Given the description of an element on the screen output the (x, y) to click on. 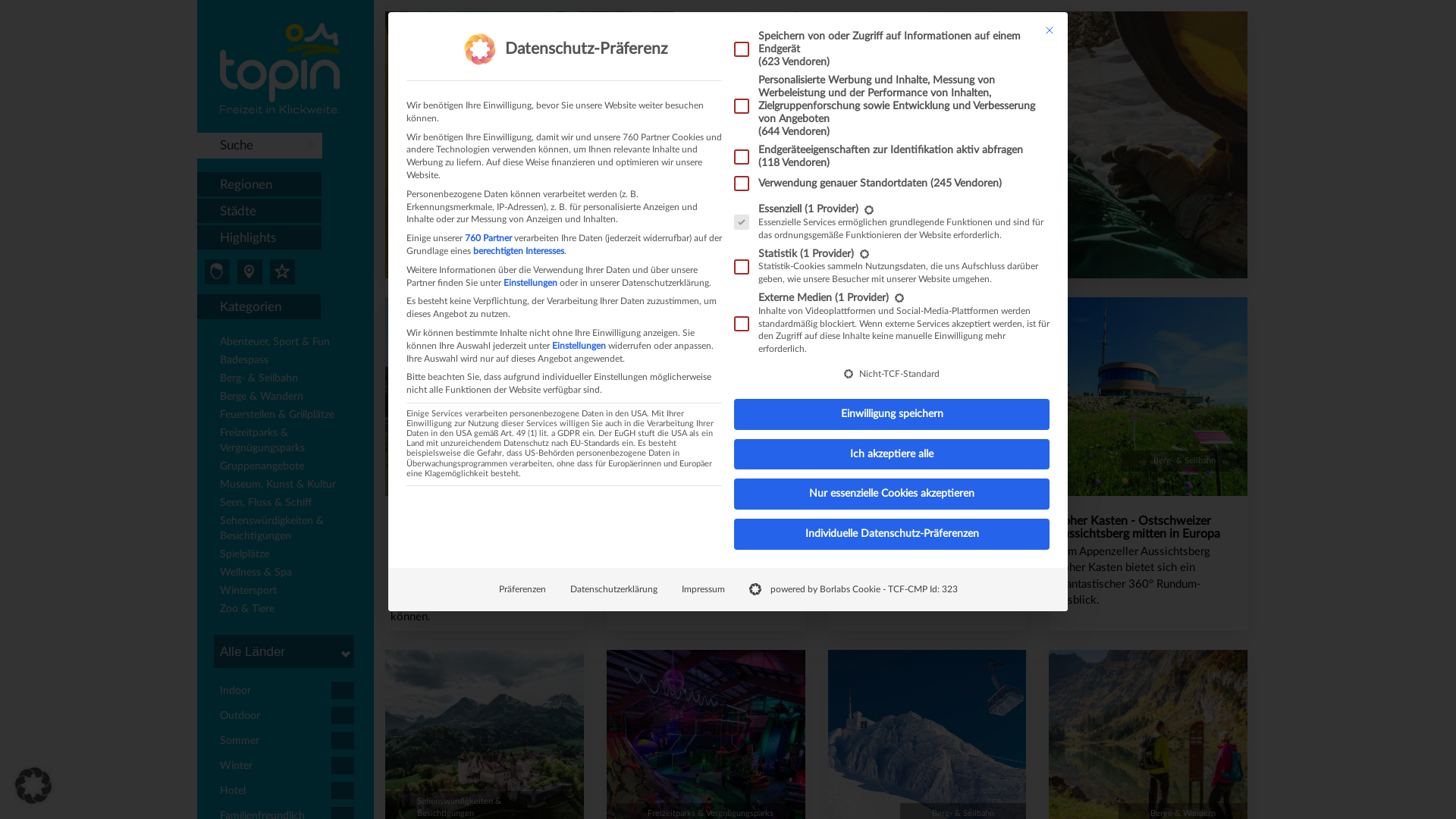
Abenteuer, Sport & Fun Element type: text (289, 343)
Zoo & Tiere Element type: text (289, 610)
Einstellungen Element type: text (530, 282)
Regionen Element type: text (259, 184)
Impressum Element type: text (702, 589)
Vorschaubild zur Seite Rundgang um den See  Element type: hover (484, 396)
berechtigten Interesses Element type: text (518, 250)
Wintersport Element type: text (289, 592)
Einstellungen Element type: text (578, 345)
760 Partner Element type: text (487, 237)
powered by Borlabs Cookie - TCF-CMP Id: 323 Element type: text (853, 589)
Home Element type: hover (816, 144)
Wellness & Spa Element type: text (289, 573)
Logo Element type: hover (279, 67)
Nur essenzielle Cookies akzeptieren Element type: text (891, 493)
Museum, Kunst & Kultur Element type: text (289, 485)
Seen, Fluss & Schiff Element type: text (289, 504)
Highlights Element type: text (259, 237)
Berge & Wandern Element type: text (289, 398)
Einwilligung speichern Element type: text (891, 413)
Berg- & Seilbahn Element type: text (289, 379)
Badespass Element type: text (289, 361)
Gruppenangebote Element type: text (289, 467)
Ich akzeptiere alle Element type: text (891, 454)
